Given the description of an element on the screen output the (x, y) to click on. 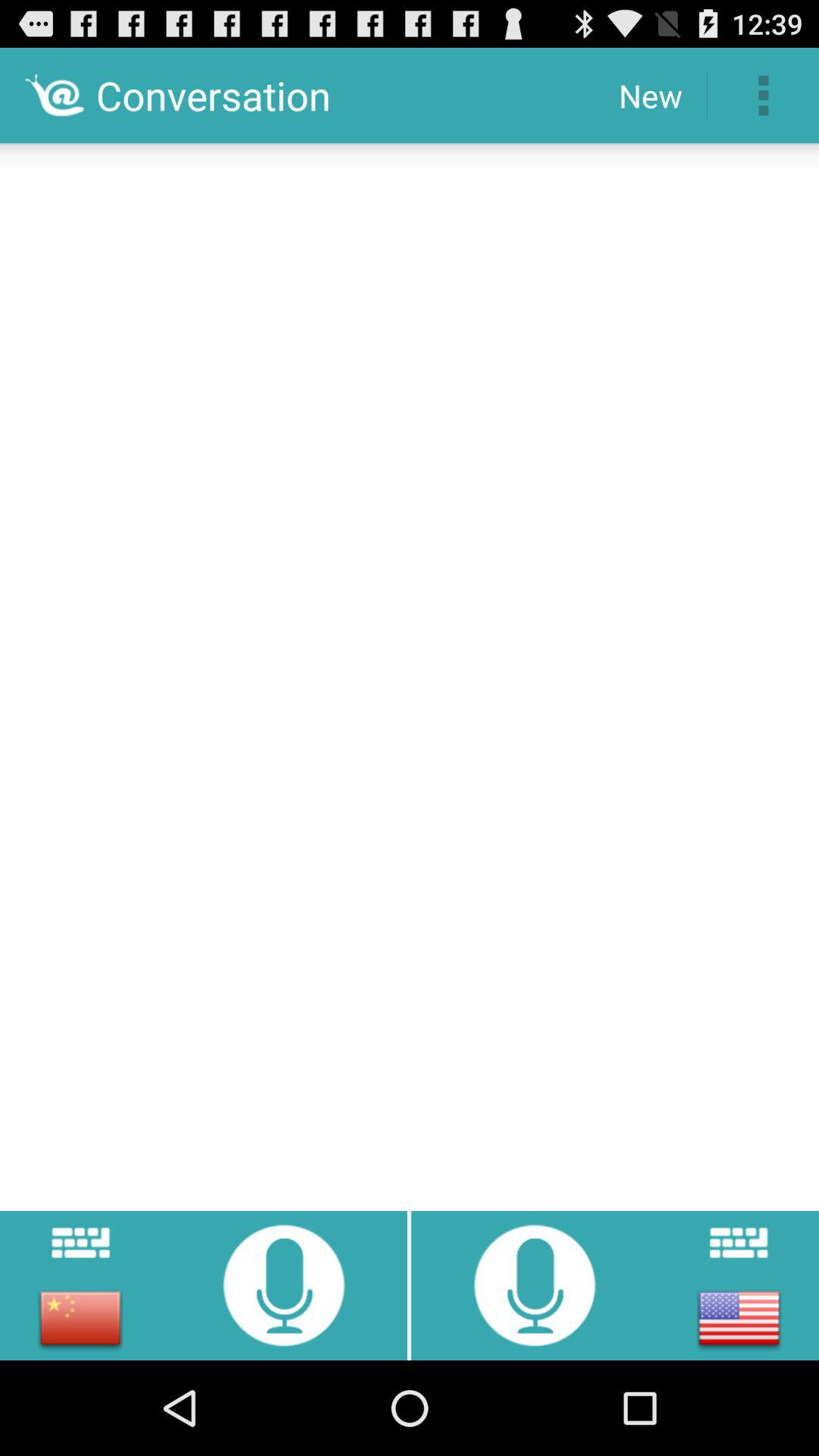
choose item next to conversation app (650, 95)
